Given the description of an element on the screen output the (x, y) to click on. 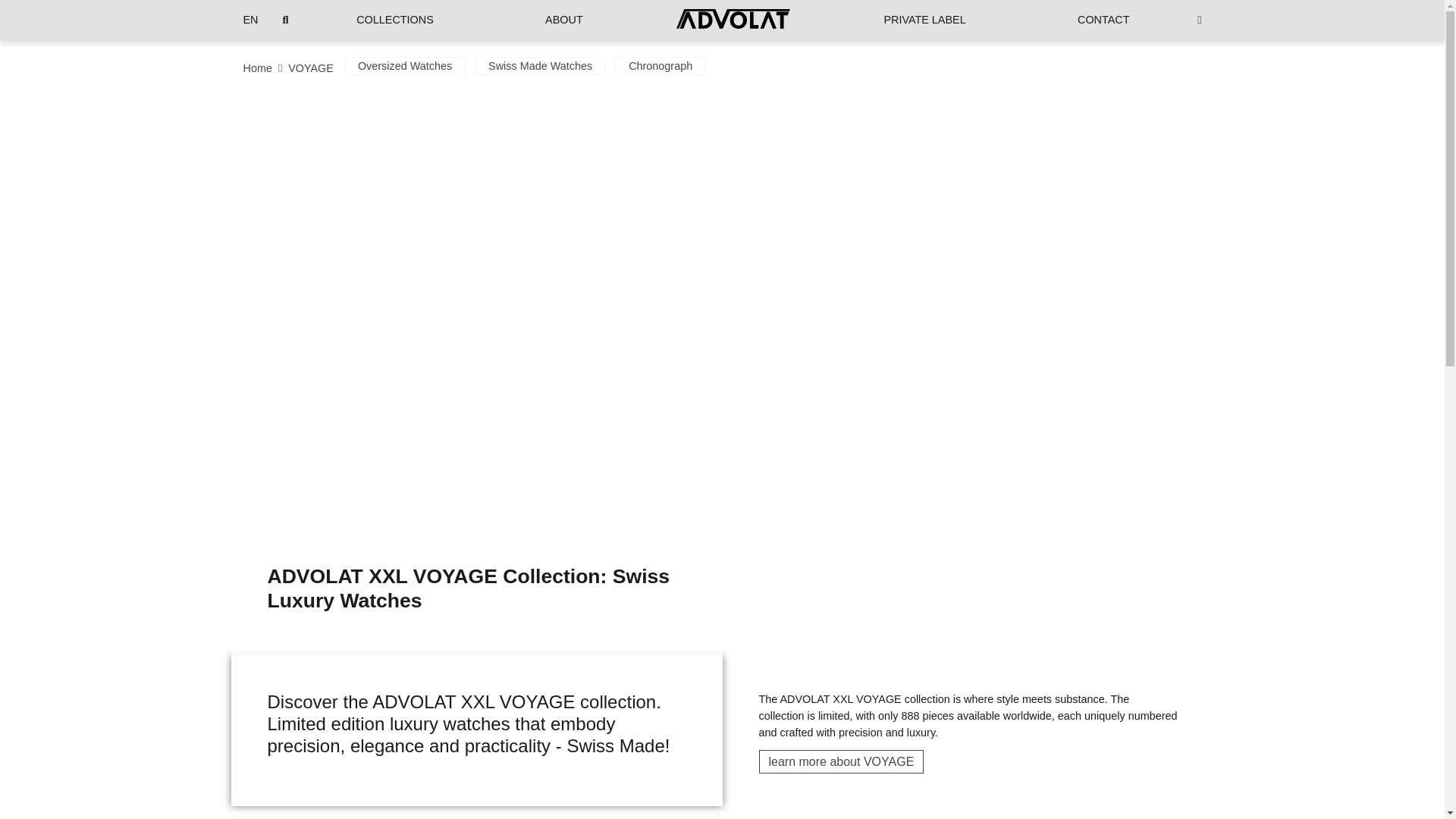
EN (250, 20)
Chronograph (659, 65)
CONTACT (1103, 20)
COLLECTIONS (394, 20)
ABOUT (563, 20)
Swiss Made Watches (540, 65)
learn more about VOYAGE (840, 761)
Home (256, 68)
Oversized Watches (405, 65)
PRIVATE LABEL (924, 20)
